Given the description of an element on the screen output the (x, y) to click on. 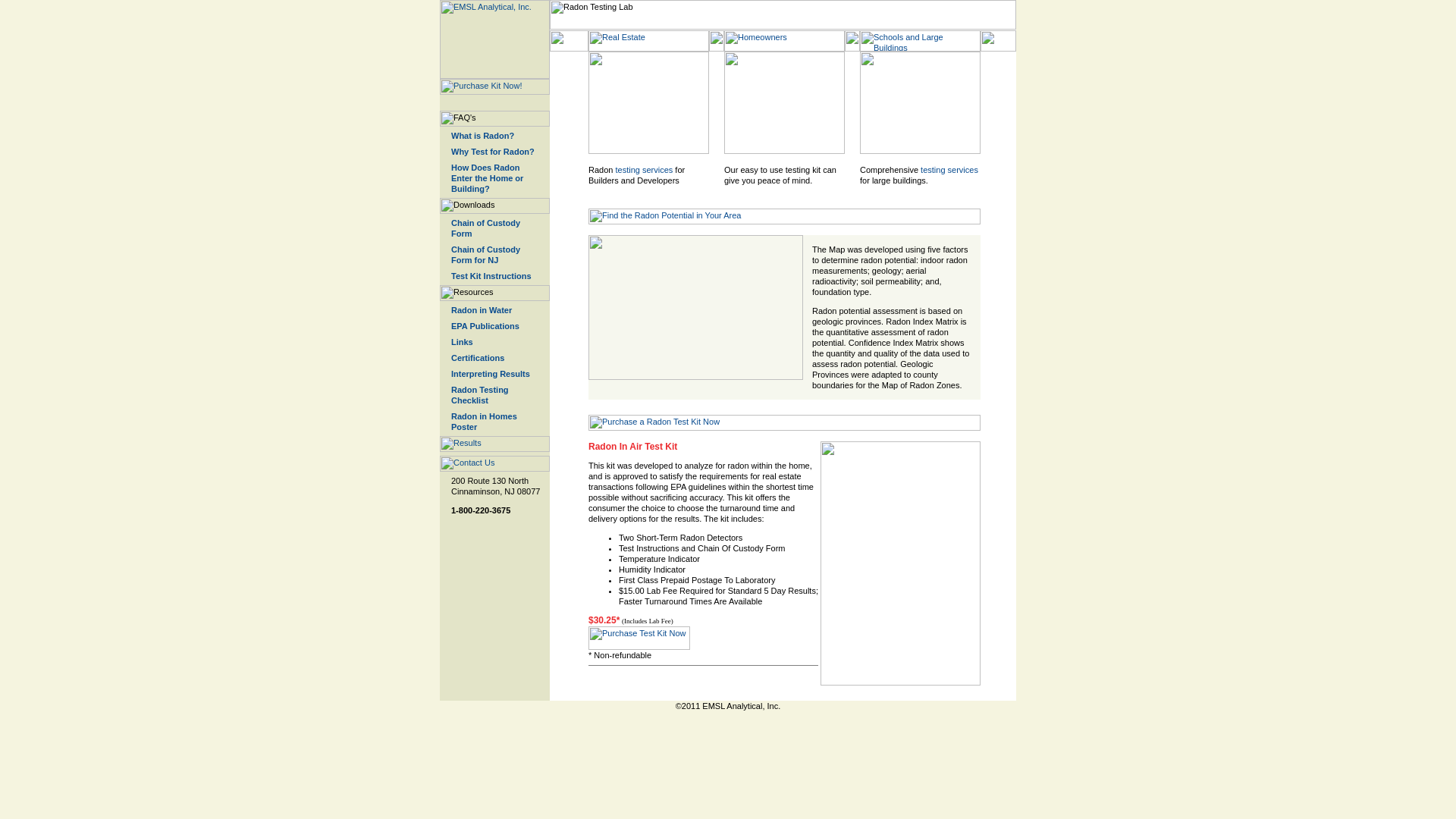
Interpreting Results (490, 373)
Radon in Homes Poster (483, 421)
Why Test for Radon? (492, 151)
Links (462, 341)
Certifications (477, 357)
Radon in Water (481, 309)
testing services (949, 169)
EPA Publications (485, 325)
testing services (643, 169)
How Does Radon Enter the Home or Building? (486, 177)
